Given the description of an element on the screen output the (x, y) to click on. 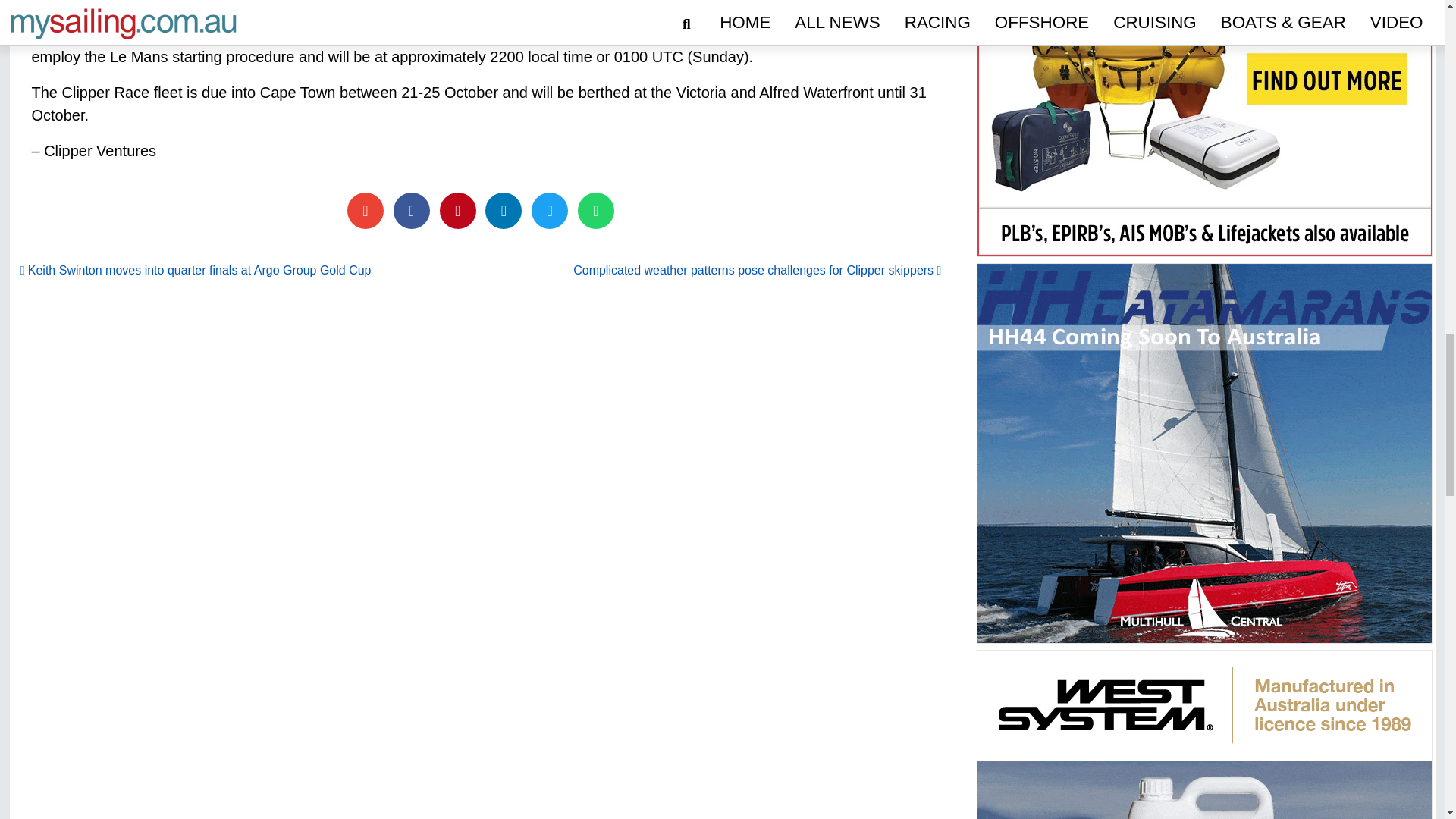
Share by Email (365, 210)
